Given the description of an element on the screen output the (x, y) to click on. 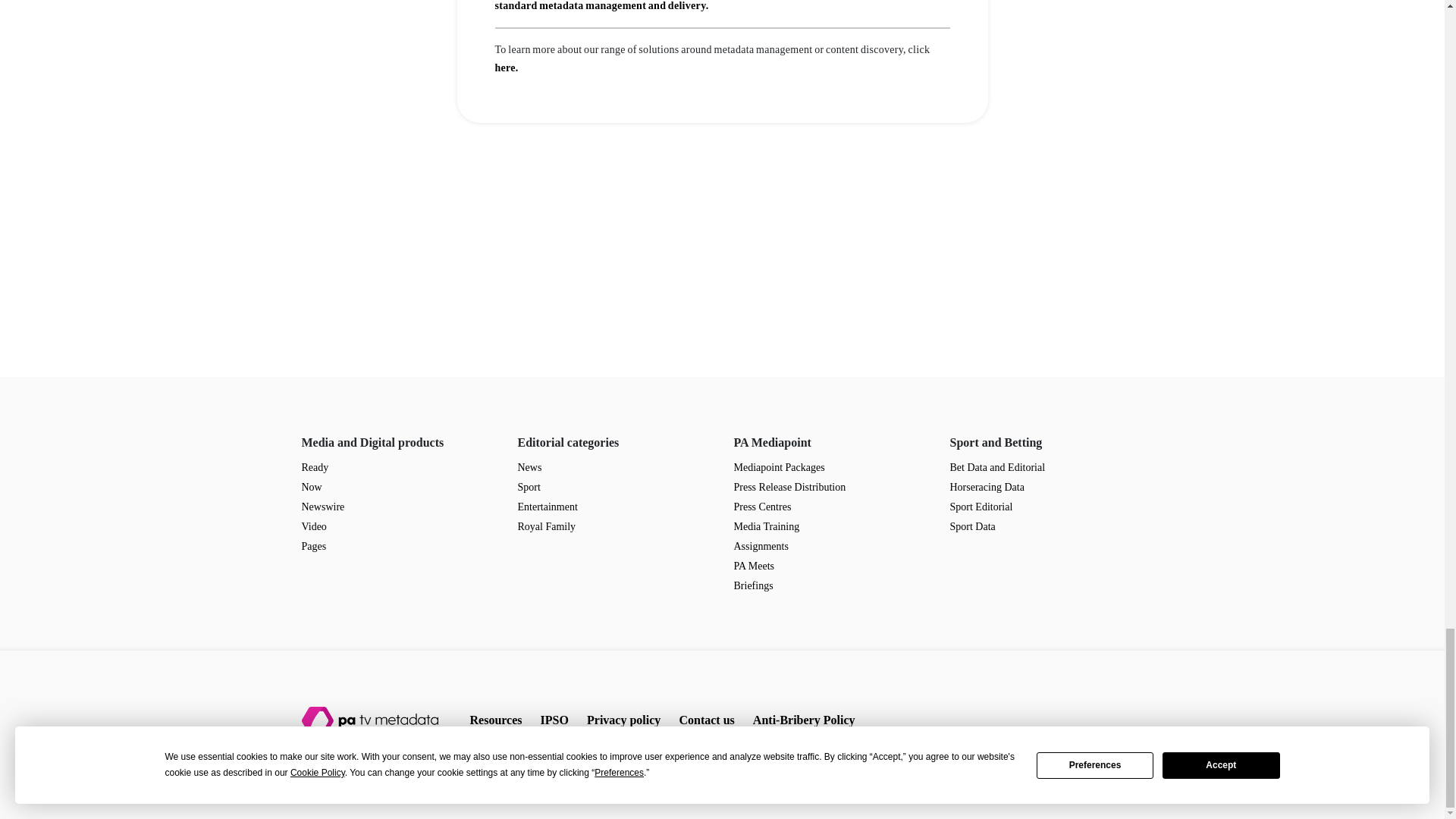
here. (506, 67)
standard metadata management and delivery. (601, 5)
